Given the description of an element on the screen output the (x, y) to click on. 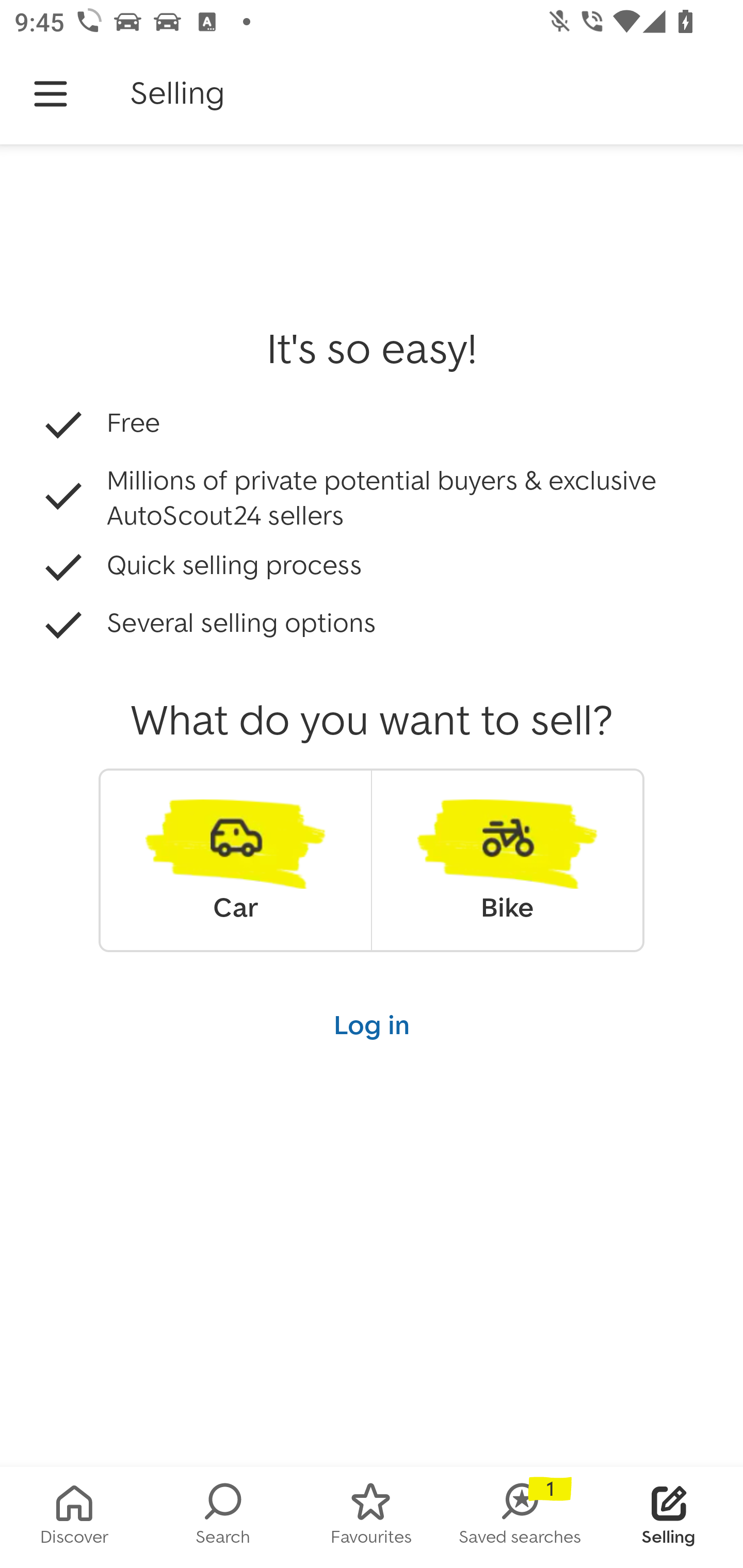
Navigate up (50, 93)
Car (235, 859)
Bike (507, 859)
Log in (371, 1024)
HOMESCREEN Discover (74, 1517)
SEARCH Search (222, 1517)
FAVORITES Favourites (371, 1517)
SAVED_SEARCHES Saved searches 1 (519, 1517)
STOCK_LIST Selling (668, 1517)
